Given the description of an element on the screen output the (x, y) to click on. 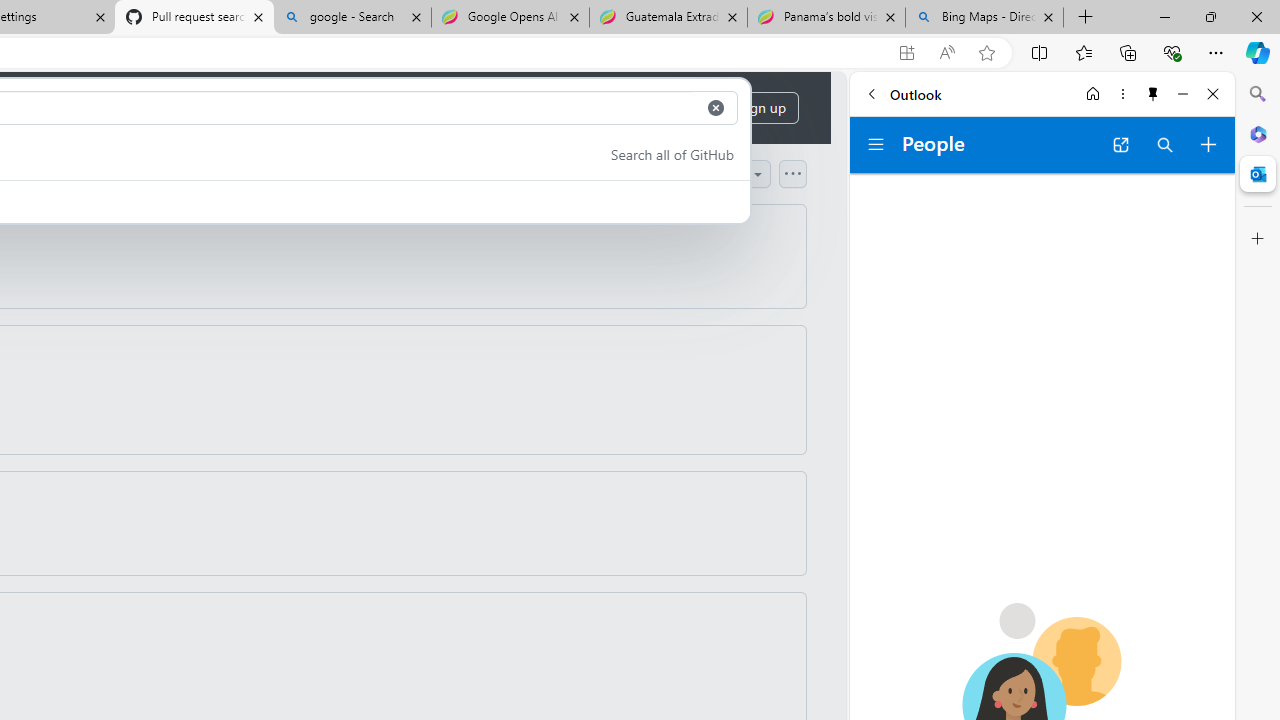
Sign in (680, 107)
Open in new tab (1120, 144)
App available. Install GitHub (906, 53)
